Given the description of an element on the screen output the (x, y) to click on. 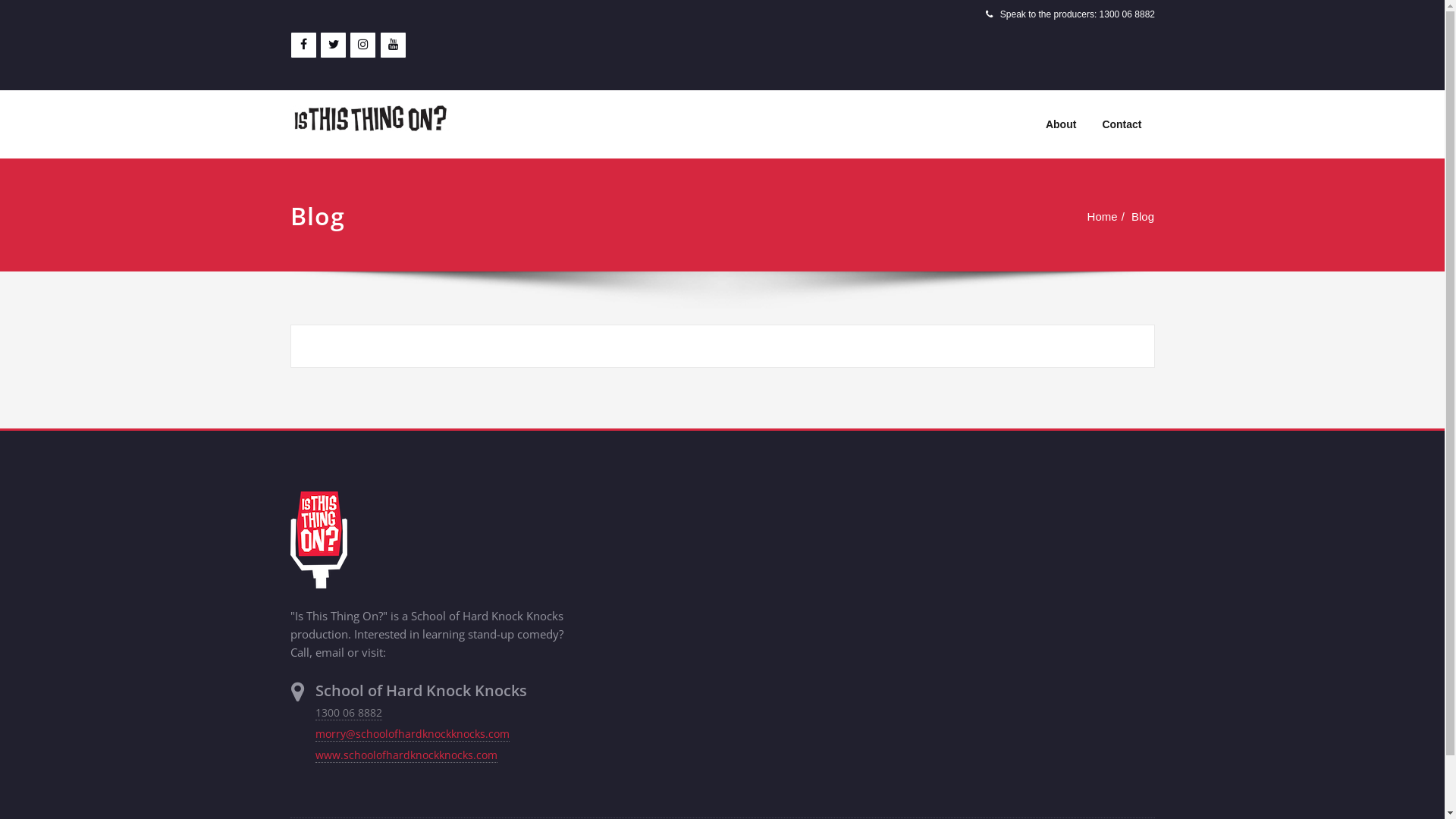
morry@schoolofhardknockknocks.com Element type: text (412, 733)
Contact Element type: text (1121, 124)
About Element type: text (1060, 124)
www.schoolofhardknockknocks.com Element type: text (406, 754)
Blog Element type: text (1142, 216)
Home Element type: text (1102, 216)
